Given the description of an element on the screen output the (x, y) to click on. 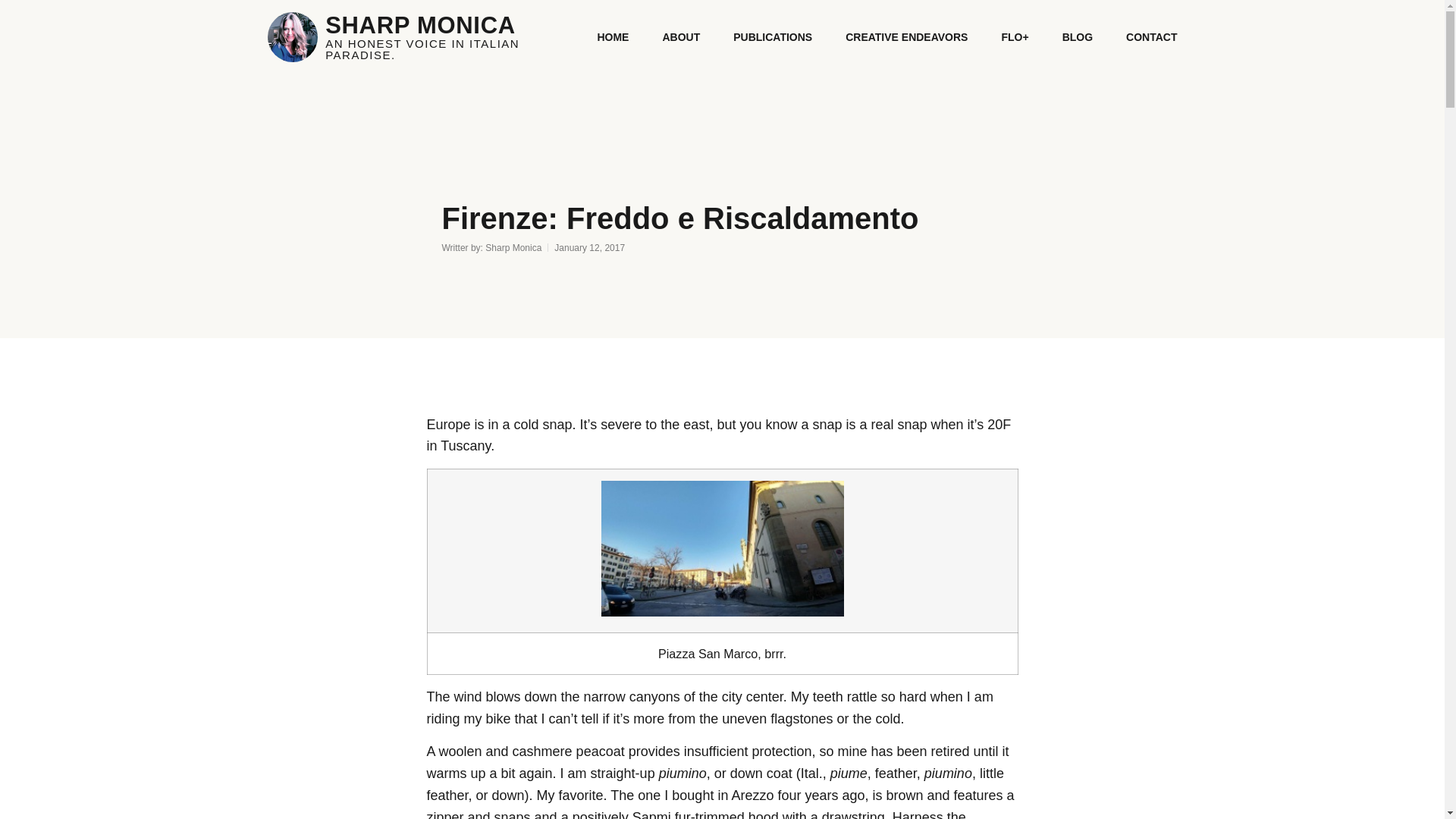
CONTACT (1150, 37)
CREATIVE ENDEAVORS (906, 37)
SHARP MONICA (419, 25)
ABOUT (681, 37)
HOME (612, 37)
BLOG (1077, 37)
PUBLICATIONS (772, 37)
